Given the description of an element on the screen output the (x, y) to click on. 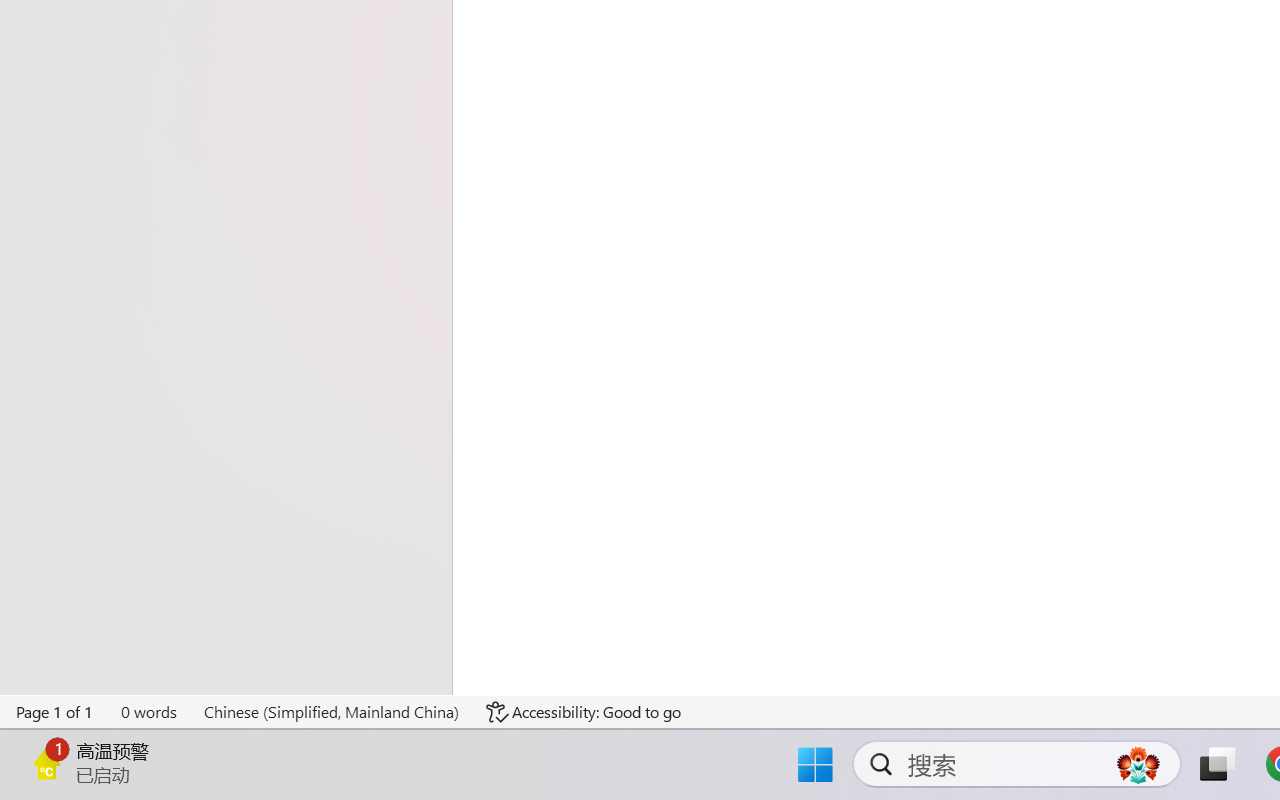
Language Chinese (Simplified, Mainland China) (331, 712)
